Given the description of an element on the screen output the (x, y) to click on. 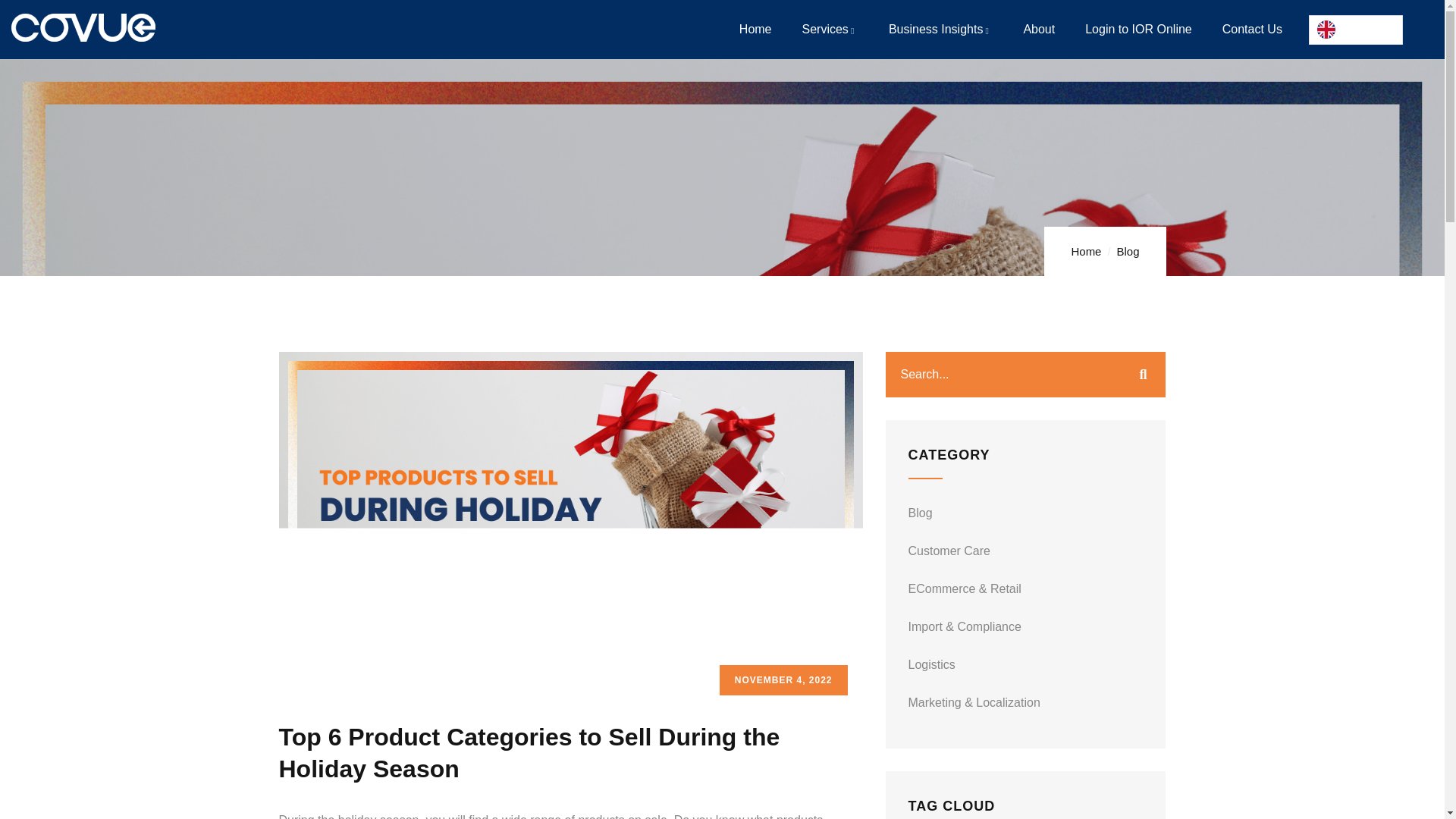
Home (83, 27)
Services (830, 29)
Home (755, 29)
